Given the description of an element on the screen output the (x, y) to click on. 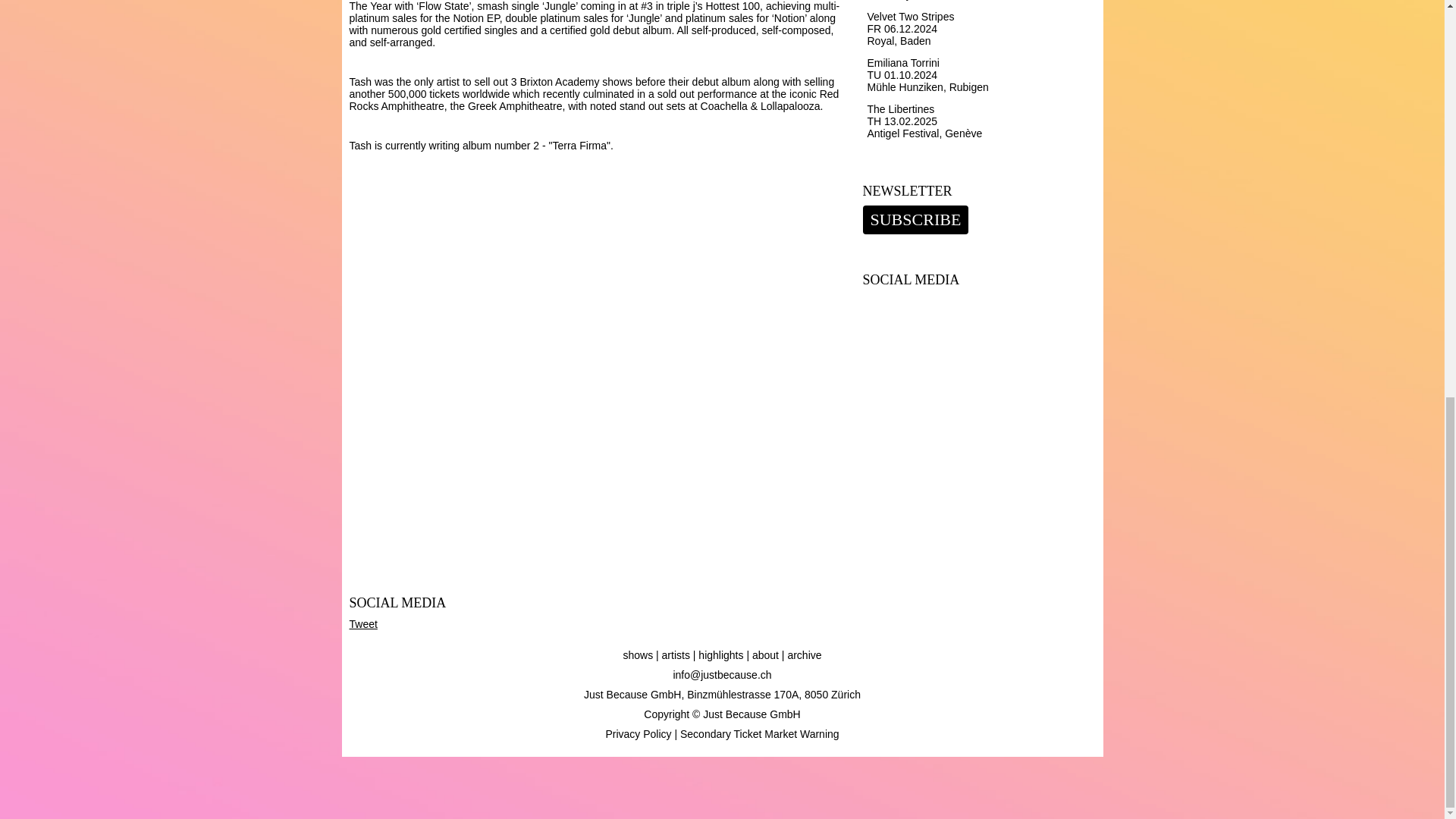
Tweet (363, 623)
about (765, 654)
archive (804, 654)
shows (637, 654)
highlights (720, 654)
SUBSCRIBE (916, 219)
artists (676, 654)
